Given the description of an element on the screen output the (x, y) to click on. 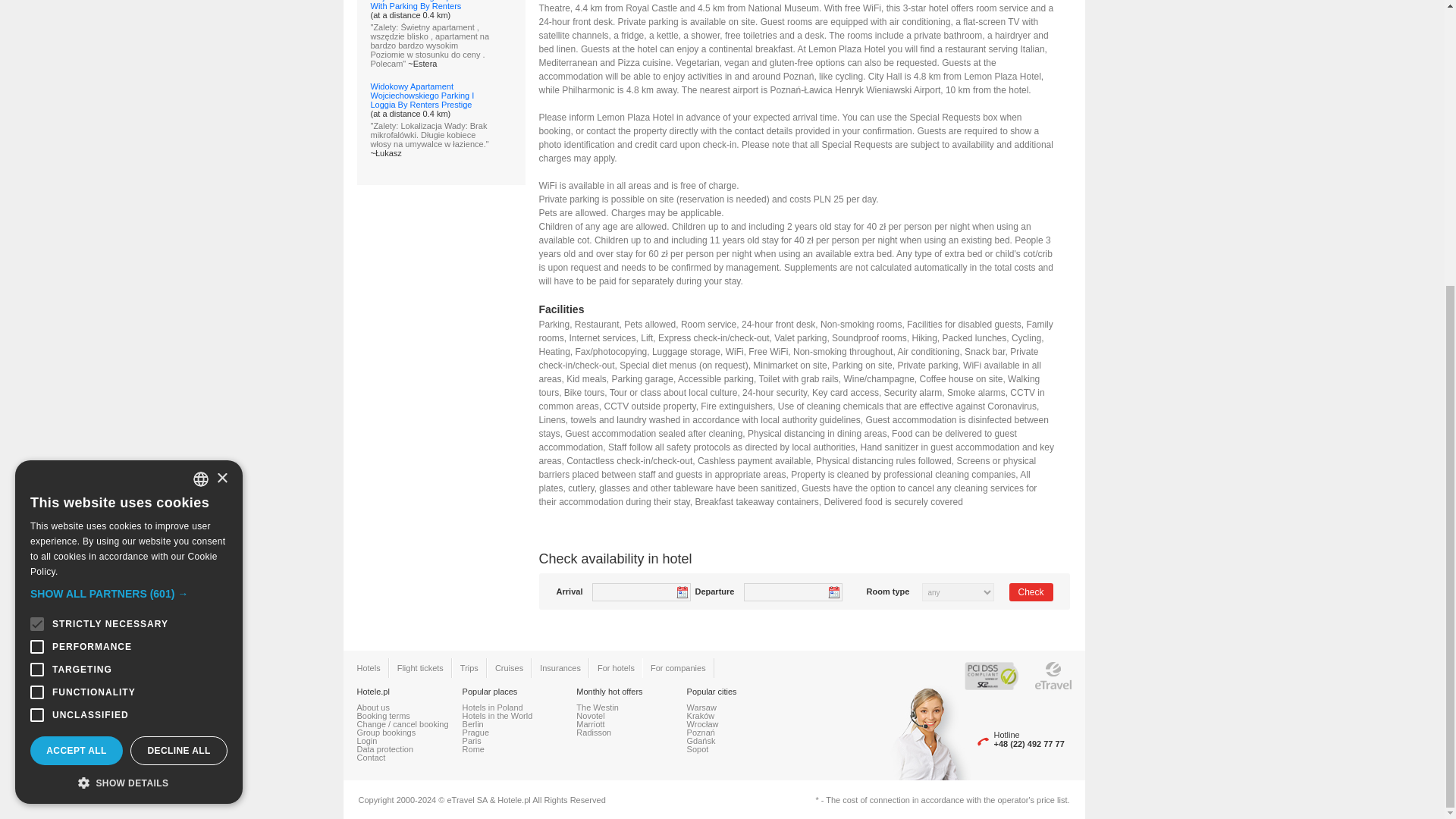
Booking terms (382, 715)
Check (1030, 592)
Group bookings (385, 732)
Trips (469, 668)
Insurances (560, 668)
Flight tickets (420, 668)
For hotels (615, 668)
About us (372, 706)
Wojciechowskiego Apartment With Parking By Renters (424, 5)
For companies (678, 668)
Hotels (368, 668)
Cruises (509, 668)
